Given the description of an element on the screen output the (x, y) to click on. 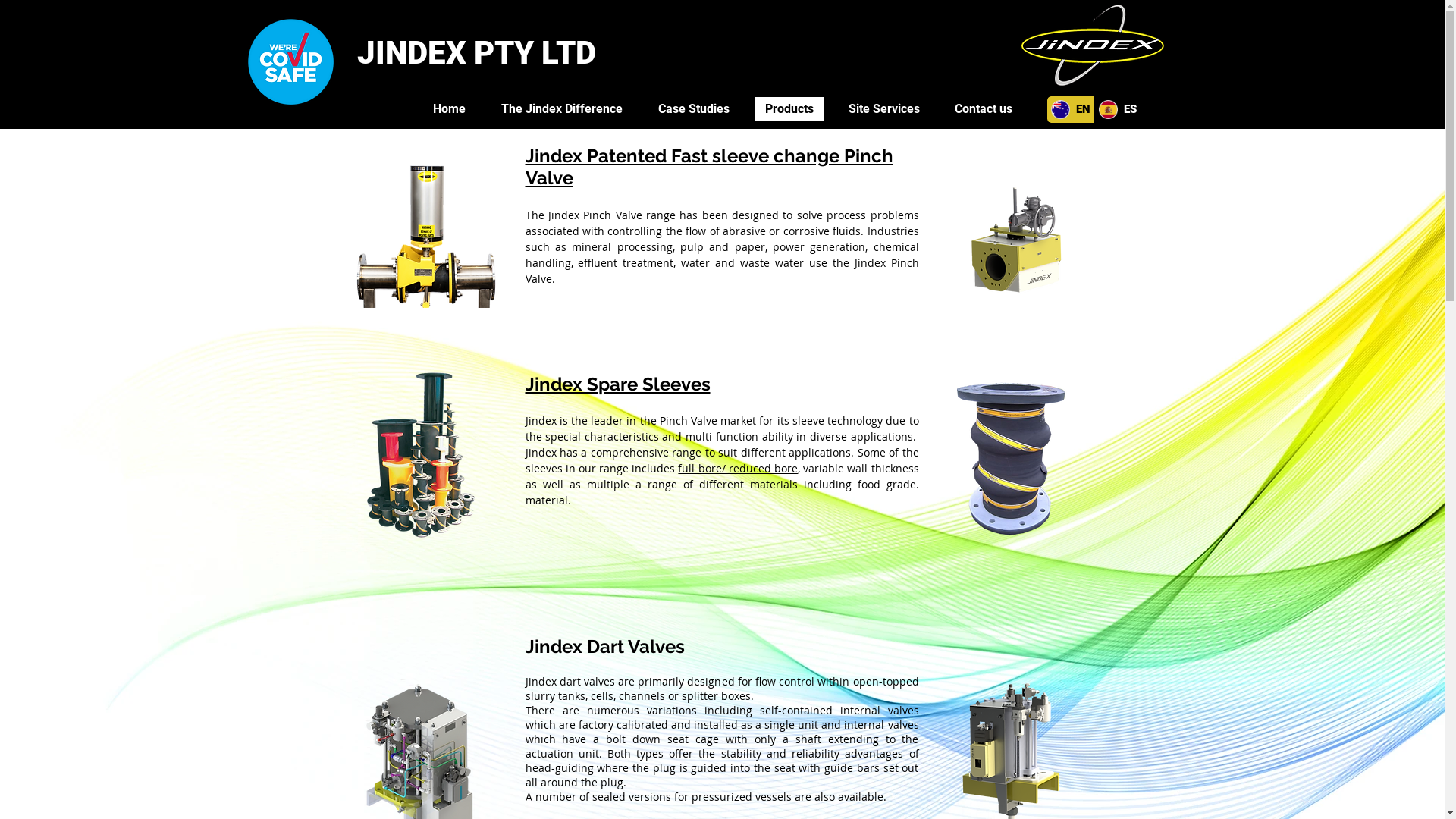
Jindex Patented Fast sleeve change Pinch Valve Element type: text (708, 166)
Jindex Spare Sleeves Element type: text (616, 384)
Jindex Pinch Valve Element type: text (721, 270)
full bore/ reduced bore Element type: text (737, 468)
JINDEX PTY LTD Element type: text (475, 52)
